Given the description of an element on the screen output the (x, y) to click on. 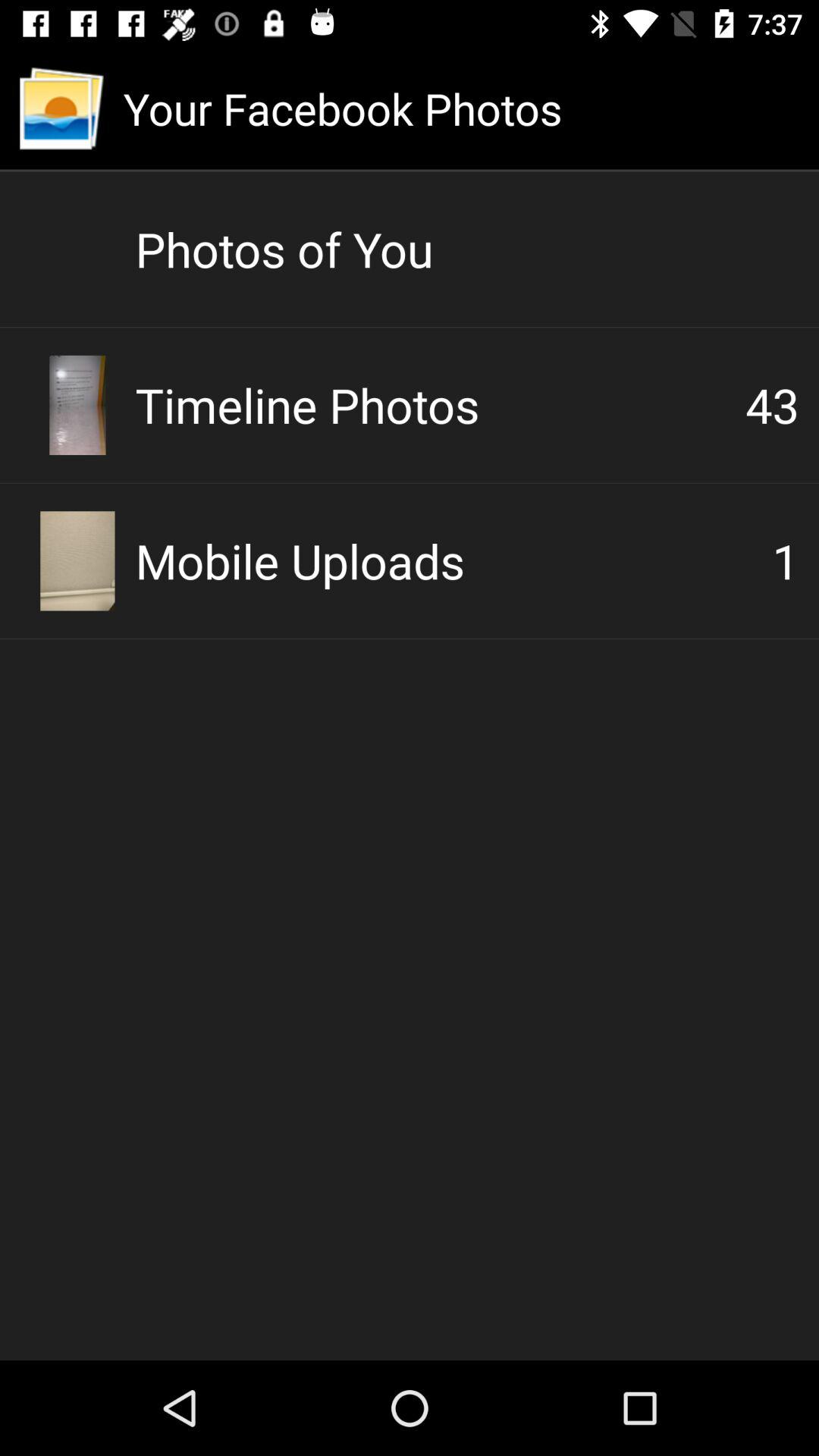
turn on icon at the top right corner (772, 404)
